Given the description of an element on the screen output the (x, y) to click on. 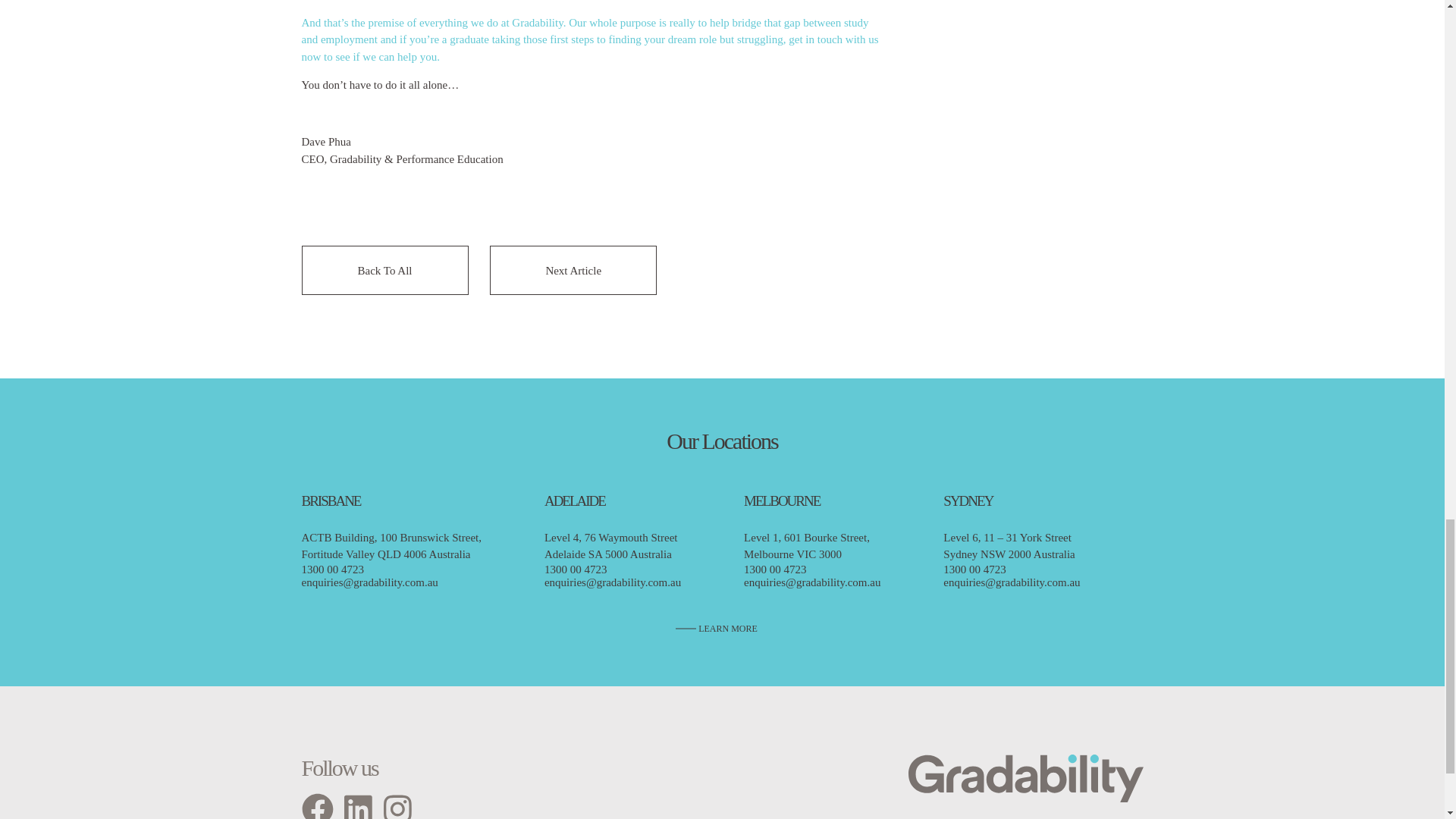
1300 00 4723 (837, 569)
Next Article (572, 269)
Back To All (384, 269)
1300 00 4723 (638, 569)
Home (1025, 786)
1300 00 4723 (1037, 569)
1300 00 4723 (416, 569)
LEARN MORE (716, 628)
Revolutionising graduate employability. (1025, 786)
